Given the description of an element on the screen output the (x, y) to click on. 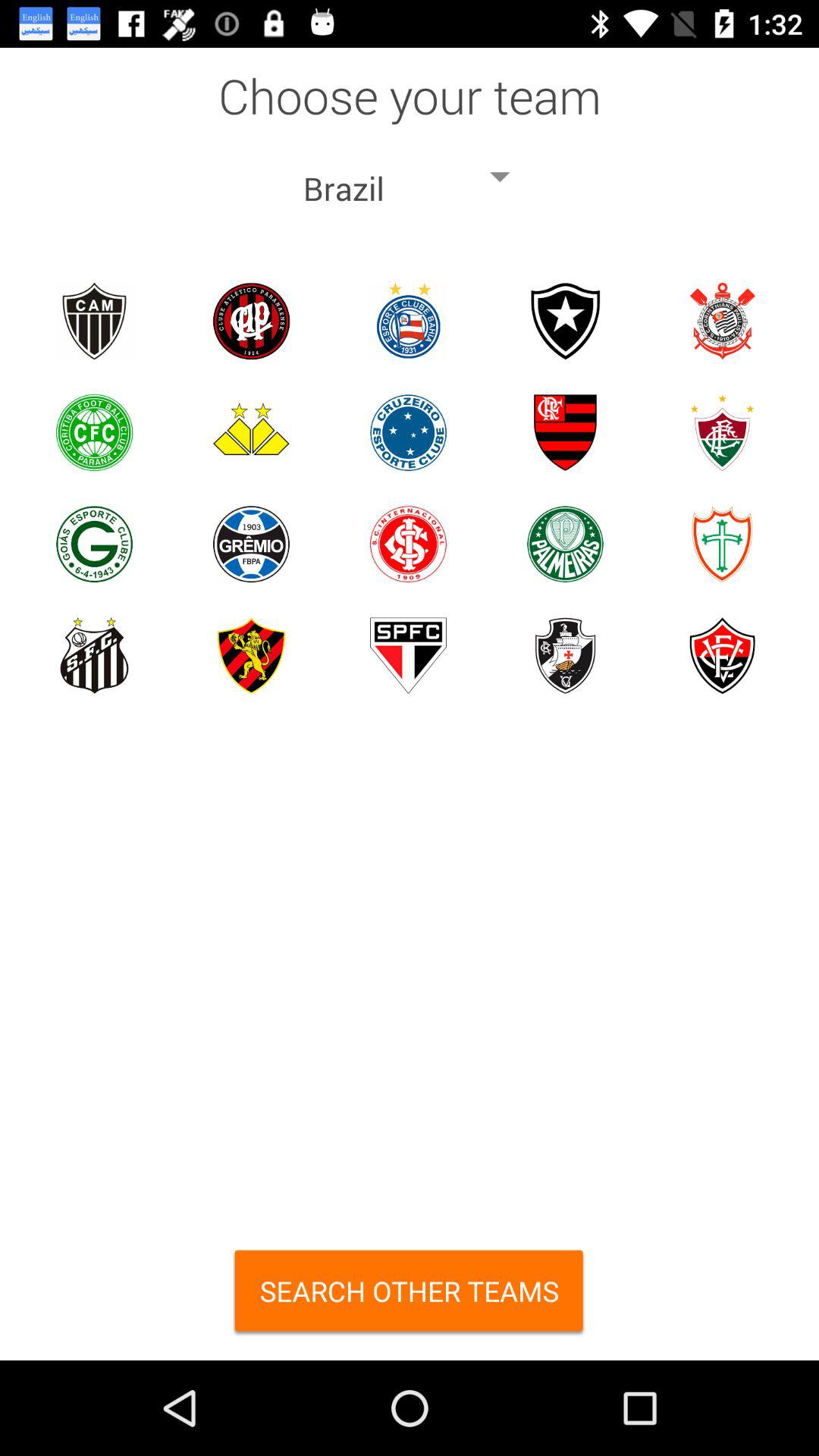
team icon (722, 544)
